Given the description of an element on the screen output the (x, y) to click on. 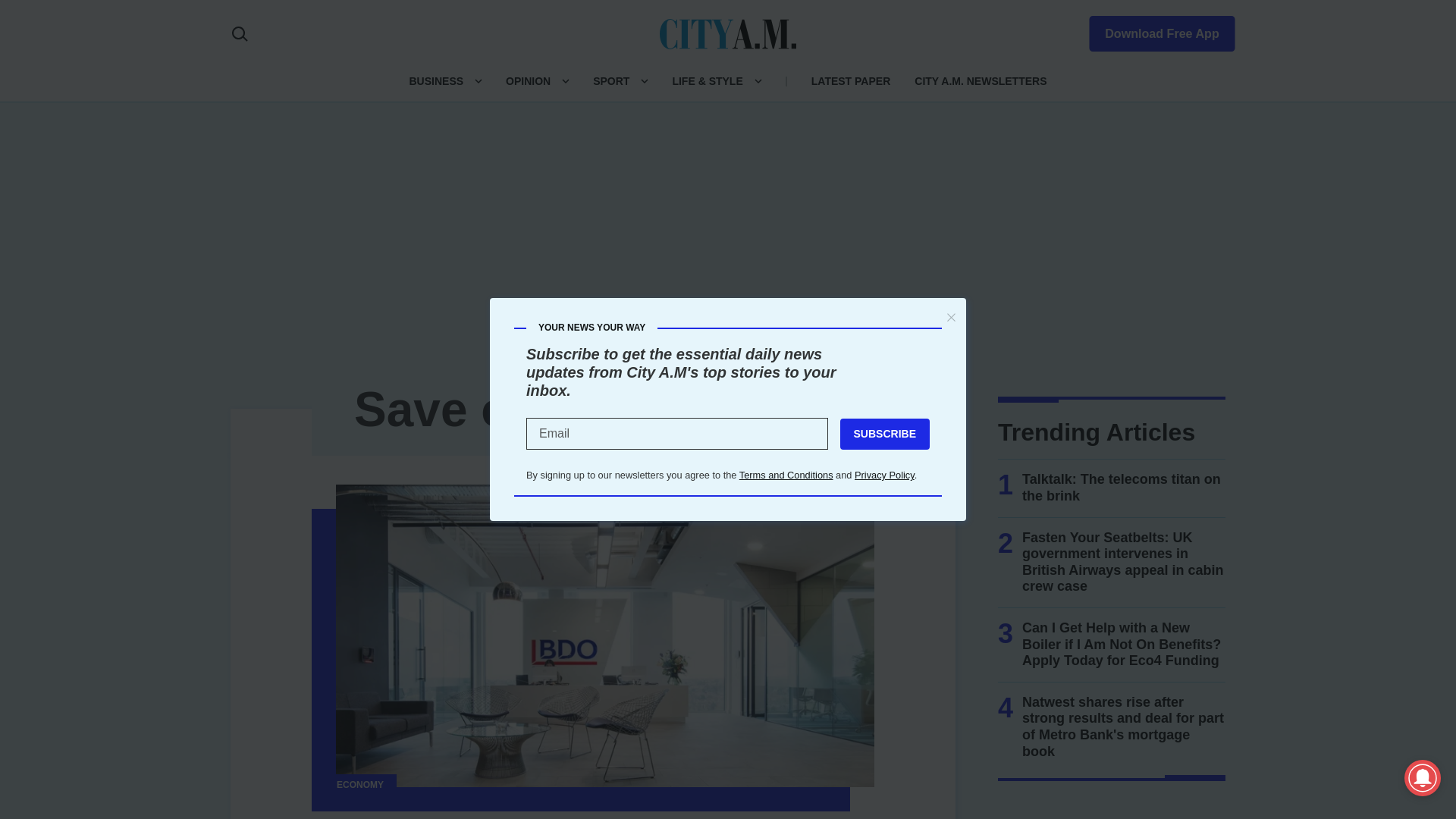
BUSINESS (436, 80)
OPINION (527, 80)
Download Free App (1152, 30)
CityAM (727, 33)
SPORT (610, 80)
